Given the description of an element on the screen output the (x, y) to click on. 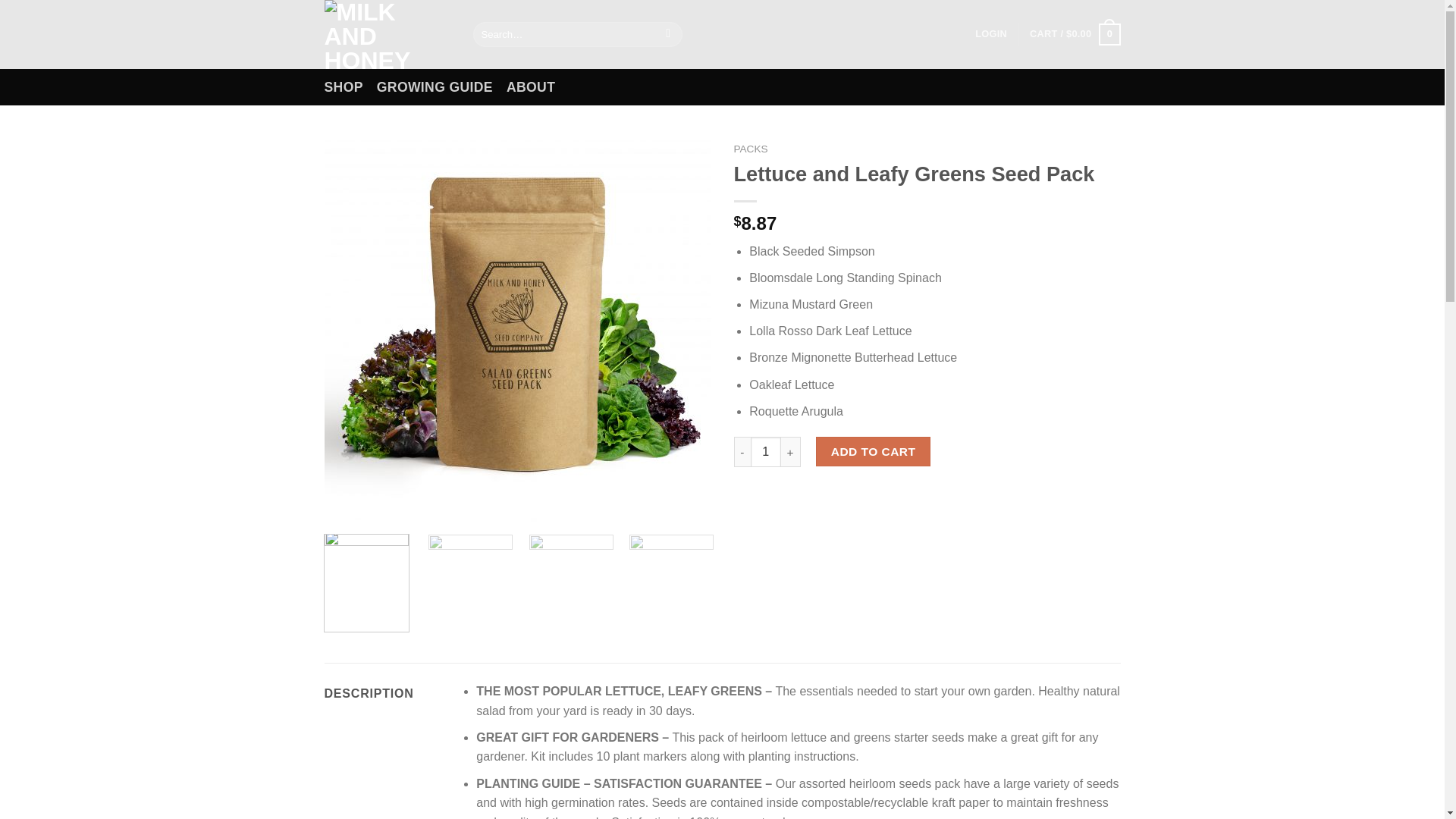
Search (668, 34)
ADD TO CART (872, 451)
Cart (1074, 34)
GROWING GUIDE (435, 86)
LOGIN (991, 33)
SHOP (343, 86)
ABOUT (530, 86)
Milk and Honey Seeds (386, 34)
PACKS (750, 148)
1 (765, 451)
Qty (765, 451)
